Given the description of an element on the screen output the (x, y) to click on. 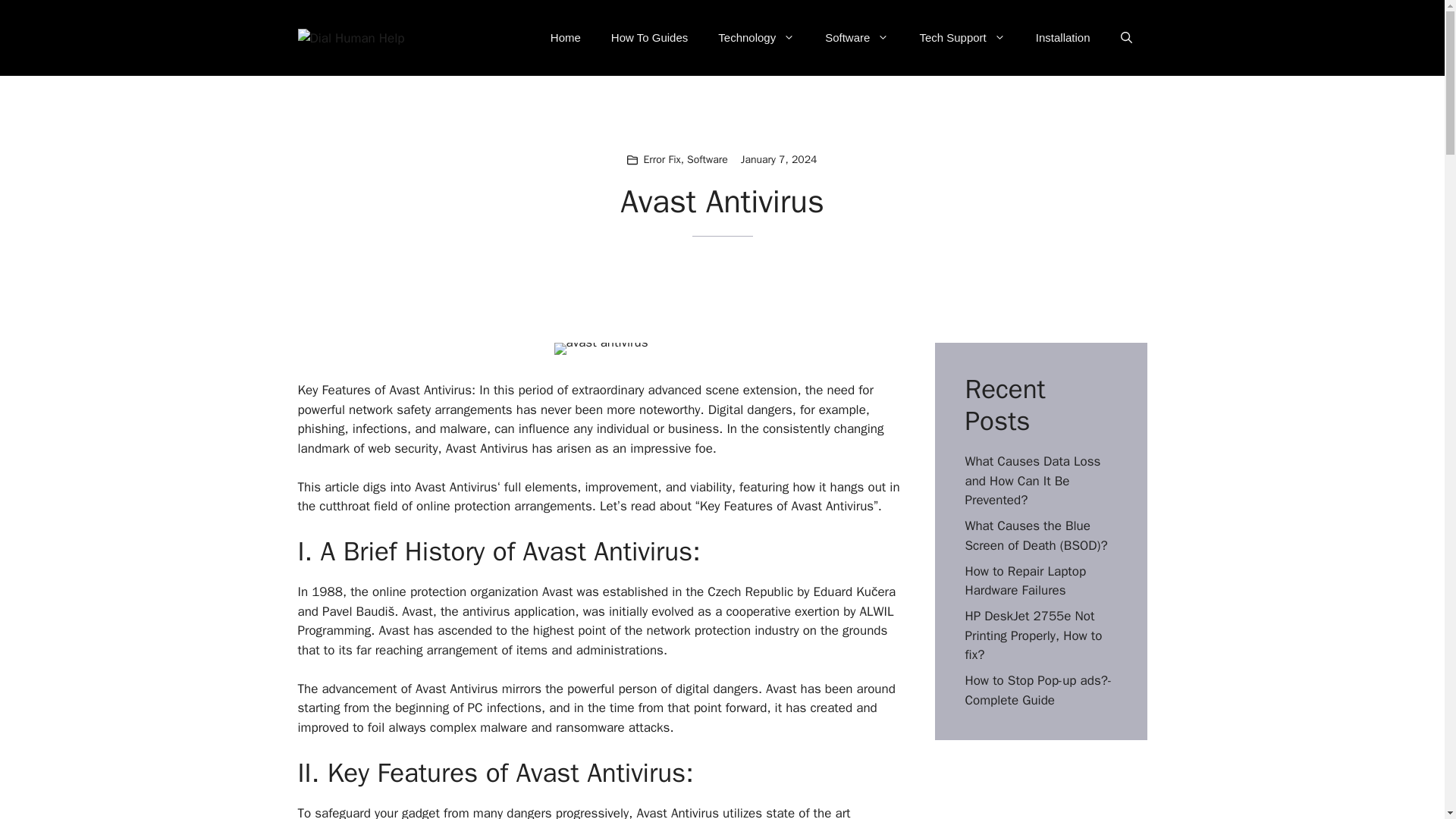
Technology (756, 37)
Installation (1062, 37)
Avast Antivirus (429, 390)
Home (565, 37)
Software (707, 159)
Avast Antivirus (486, 448)
Software (856, 37)
Antivirus (473, 688)
antivirus (487, 611)
Error Fix (661, 159)
